Given the description of an element on the screen output the (x, y) to click on. 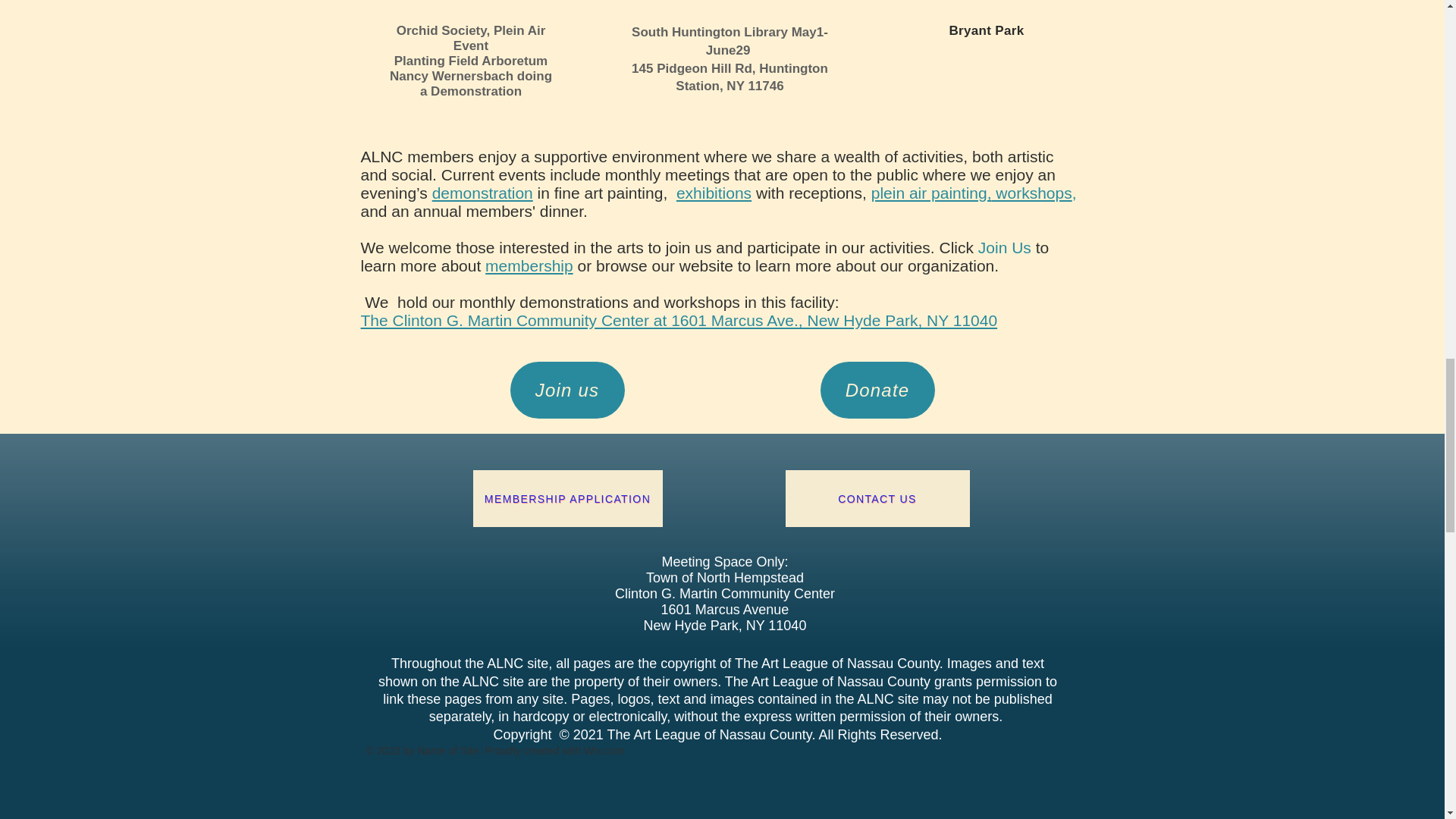
demonstration (482, 192)
